Given the description of an element on the screen output the (x, y) to click on. 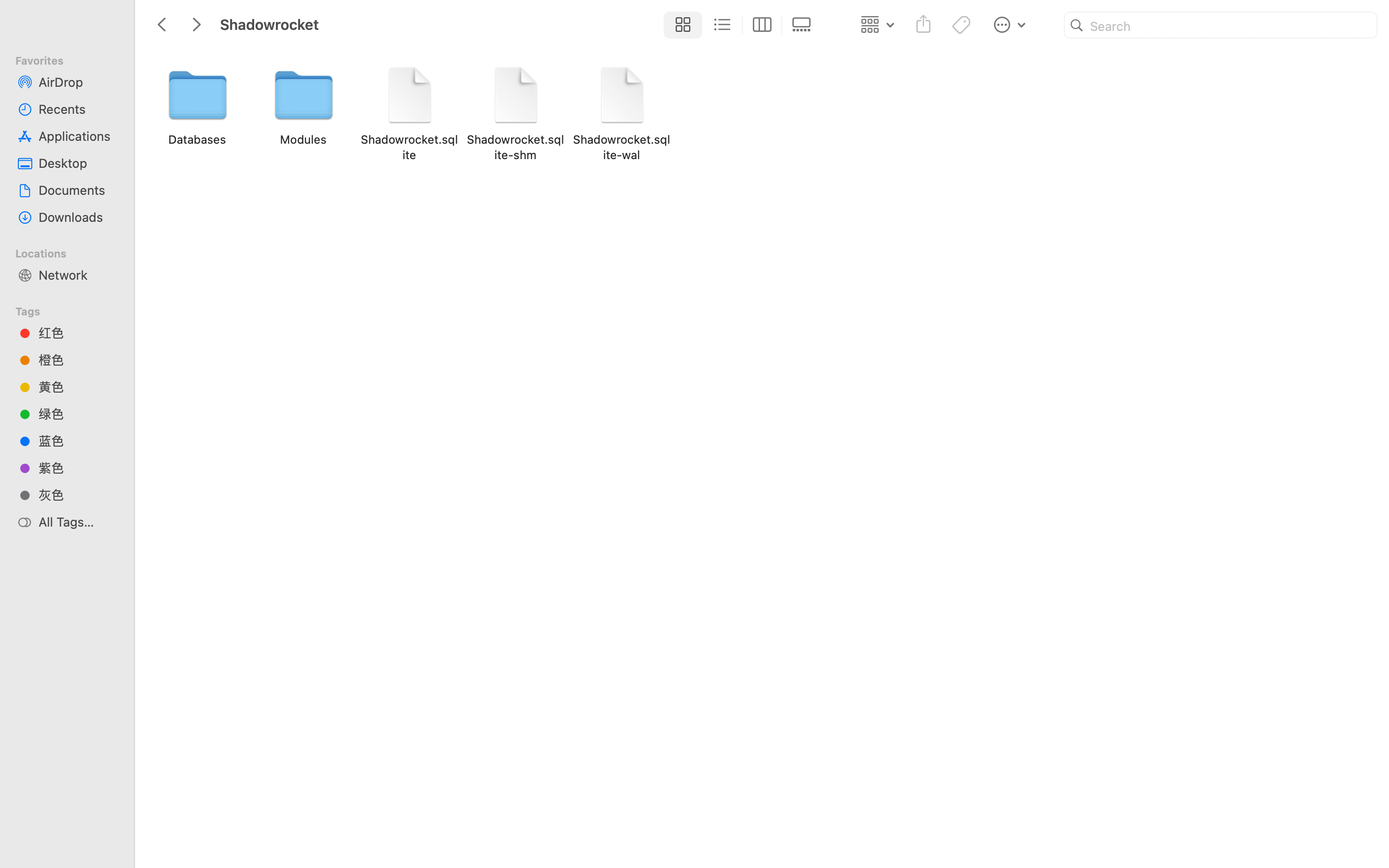
Network Element type: AXStaticText (77, 274)
All Tags… Element type: AXStaticText (77, 521)
1 Element type: AXRadioButton (680, 24)
Tags Element type: AXStaticText (72, 309)
黄色 Element type: AXStaticText (77, 386)
